Given the description of an element on the screen output the (x, y) to click on. 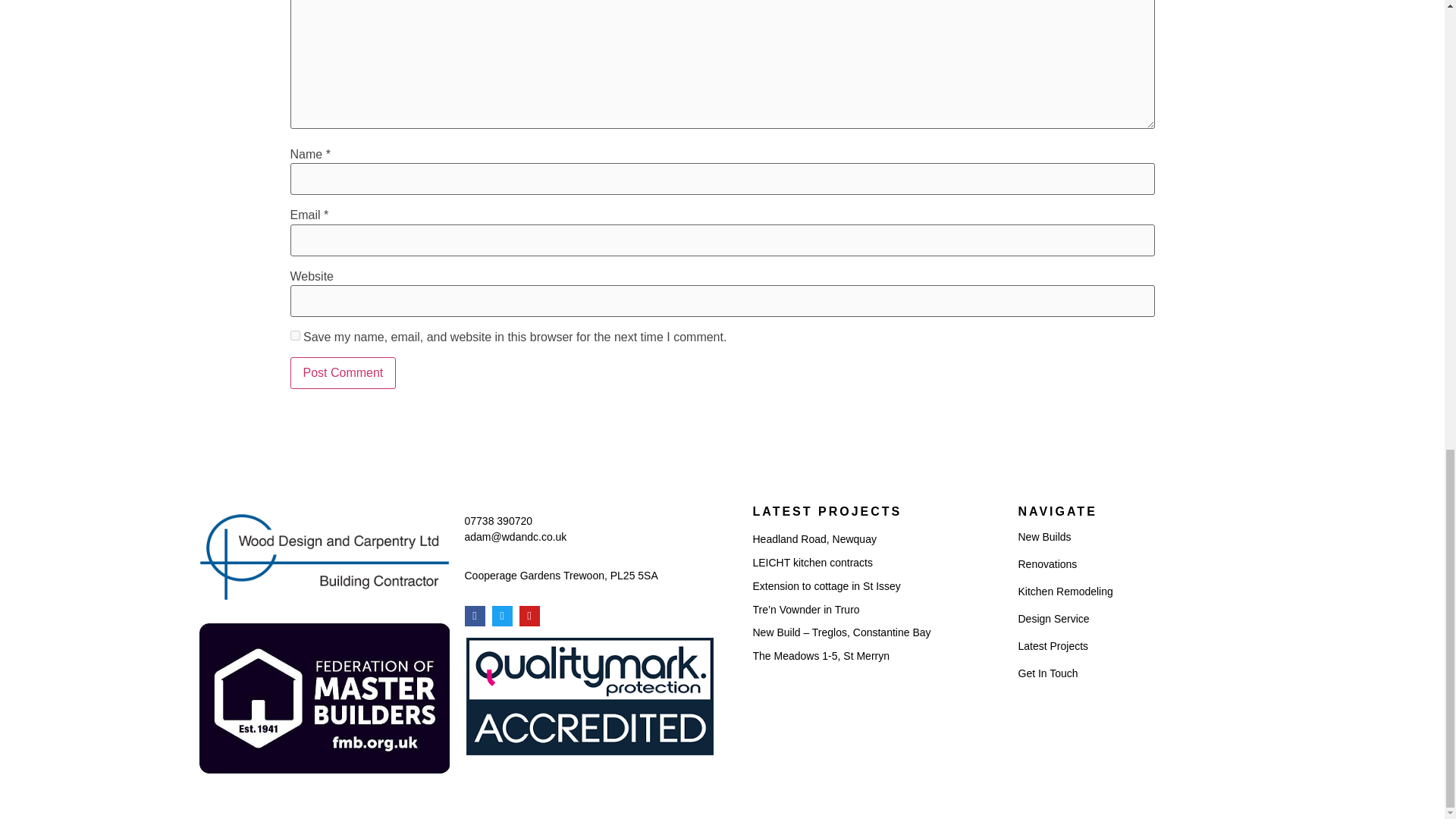
Post Comment (342, 373)
LEICHT kitchen contracts (812, 562)
Extension to cottage in St Issey (825, 585)
The Meadows 1-5, St Merryn (820, 655)
yes (294, 335)
Renovations (1120, 564)
New Builds (1120, 537)
Latest Projects (1120, 646)
Post Comment (342, 373)
Get In Touch (1120, 673)
